Given the description of an element on the screen output the (x, y) to click on. 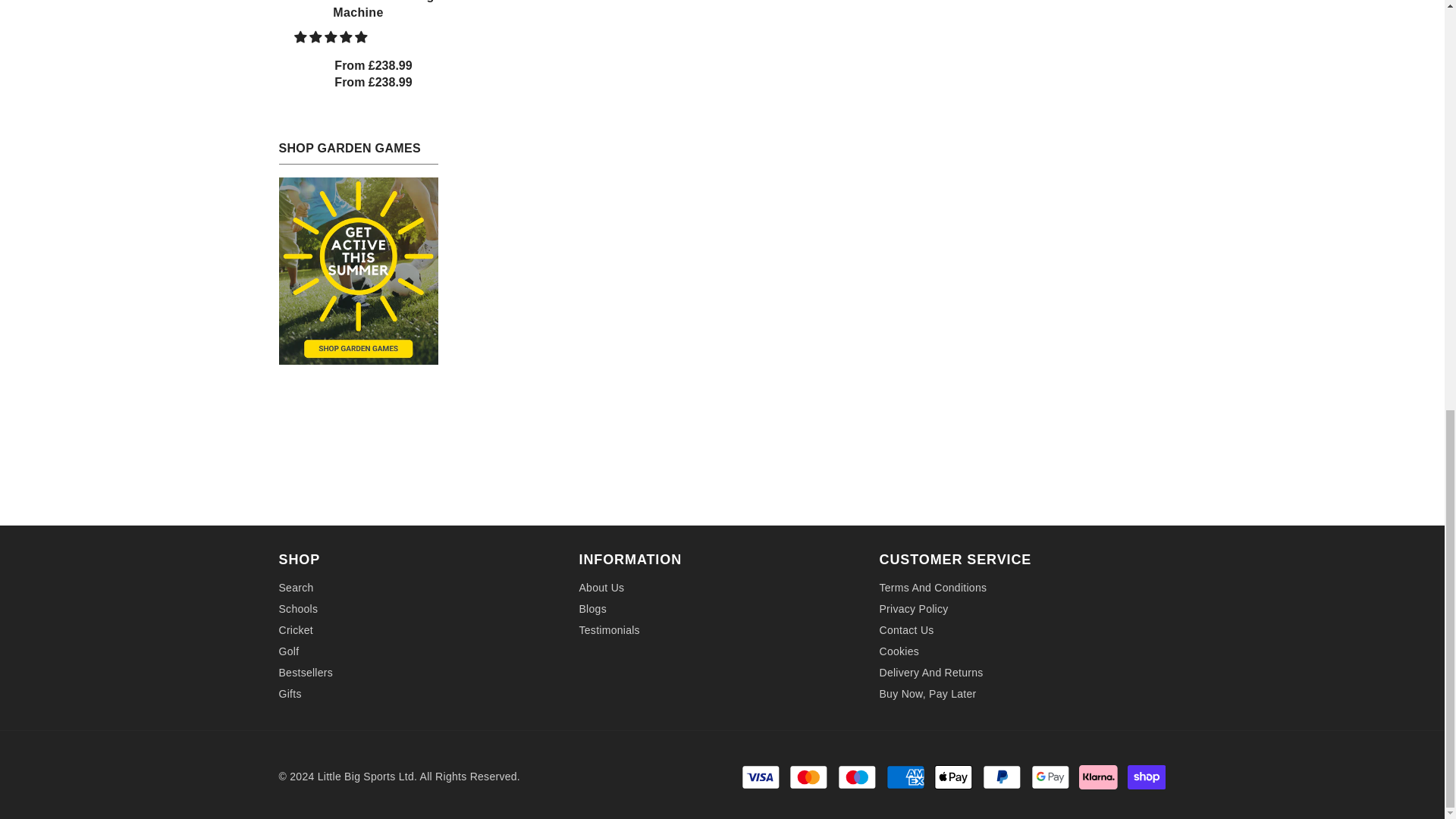
Google Pay (1050, 776)
Shop Pay (1146, 776)
Maestro (857, 776)
Mastercard (808, 776)
PayPal (1001, 776)
Visa (760, 776)
Apple Pay (953, 776)
American Express (905, 776)
Klarna (1098, 776)
